Given the description of an element on the screen output the (x, y) to click on. 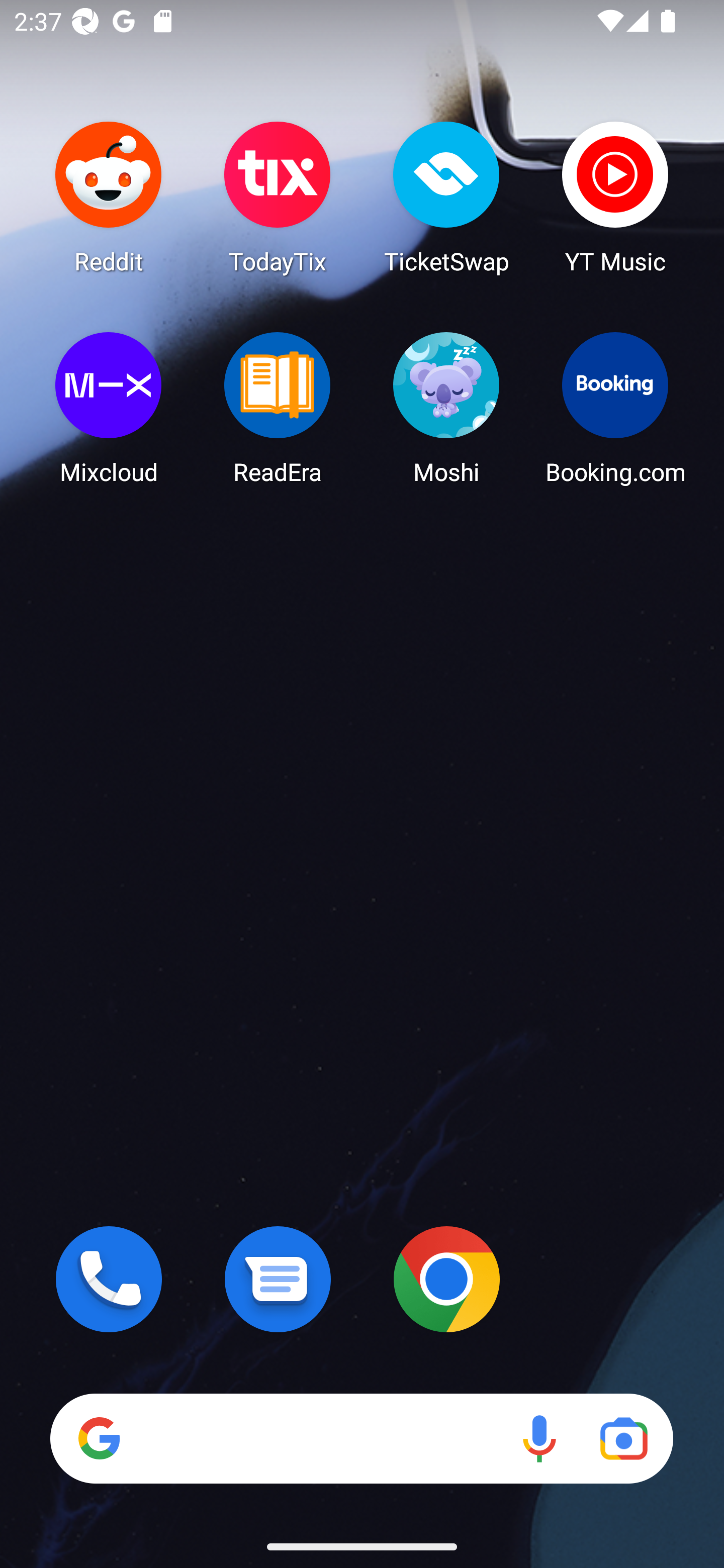
Reddit (108, 196)
TodayTix (277, 196)
TicketSwap (445, 196)
YT Music (615, 196)
Mixcloud (108, 407)
ReadEra (277, 407)
Moshi (445, 407)
Booking.com (615, 407)
Phone (108, 1279)
Messages (277, 1279)
Chrome (446, 1279)
Search Voice search Google Lens (361, 1438)
Voice search (539, 1438)
Google Lens (623, 1438)
